Given the description of an element on the screen output the (x, y) to click on. 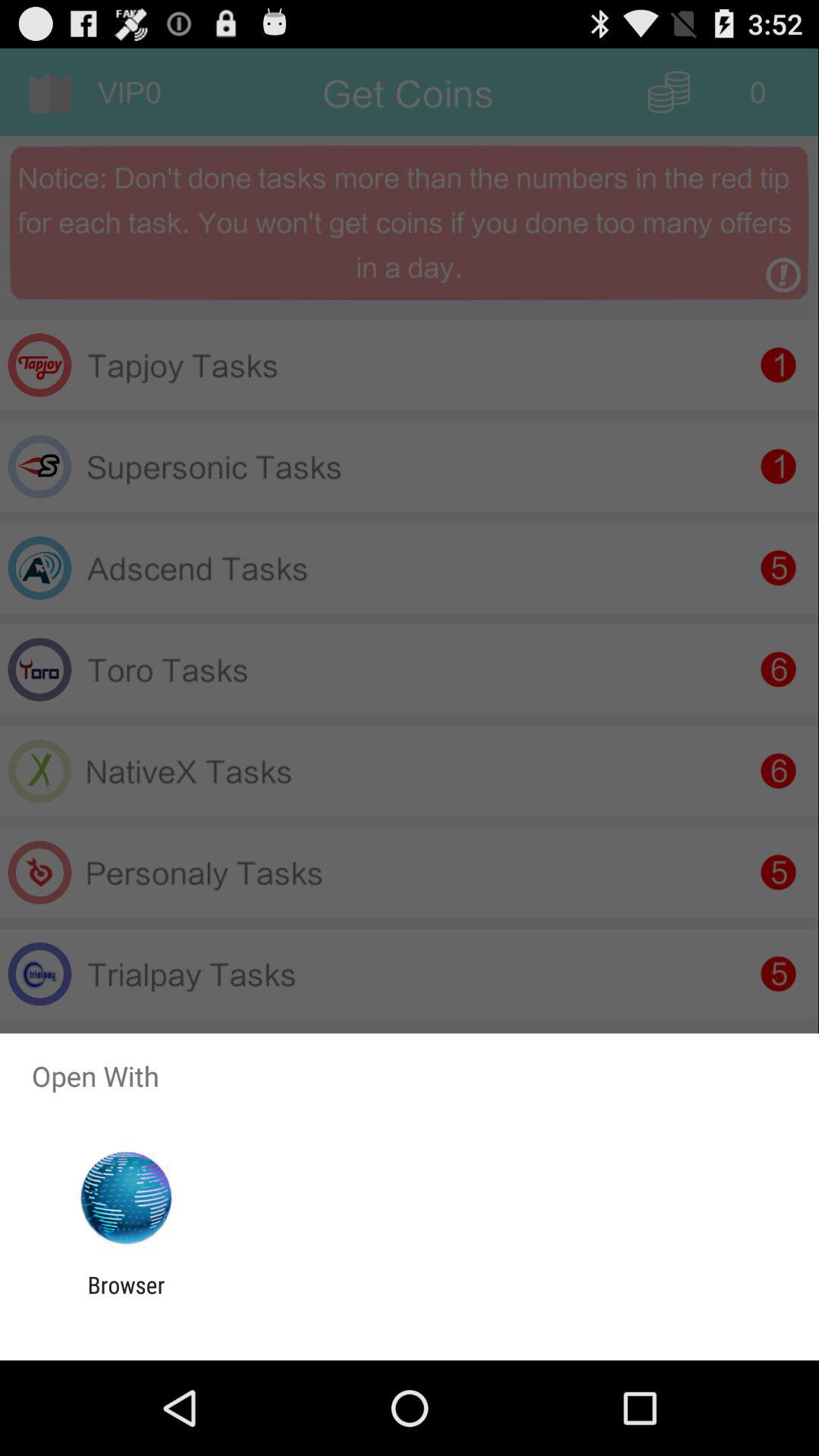
choose the app below the open with app (126, 1198)
